Given the description of an element on the screen output the (x, y) to click on. 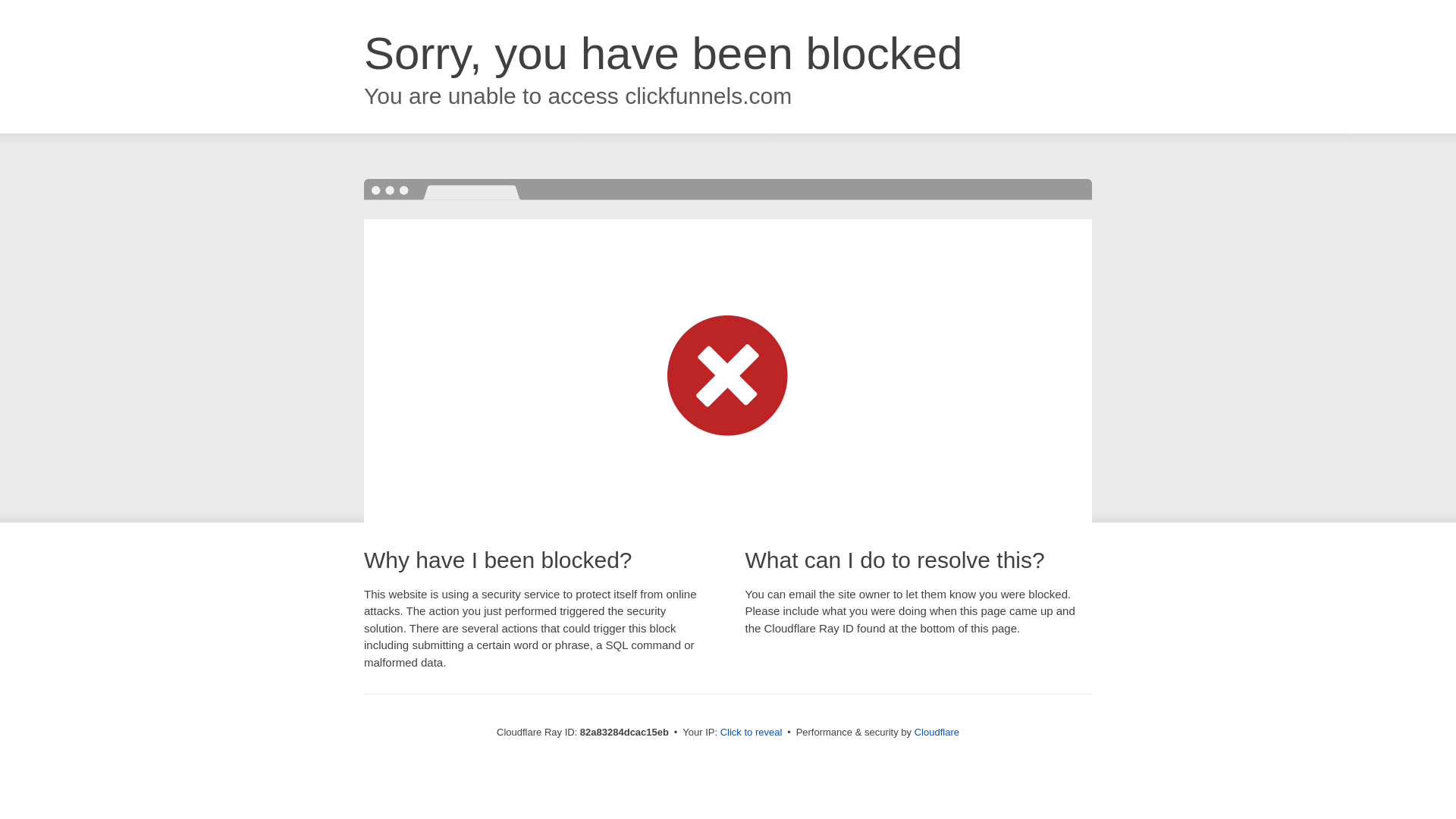
Cloudflare Element type: text (936, 731)
Click to reveal Element type: text (751, 732)
